Given the description of an element on the screen output the (x, y) to click on. 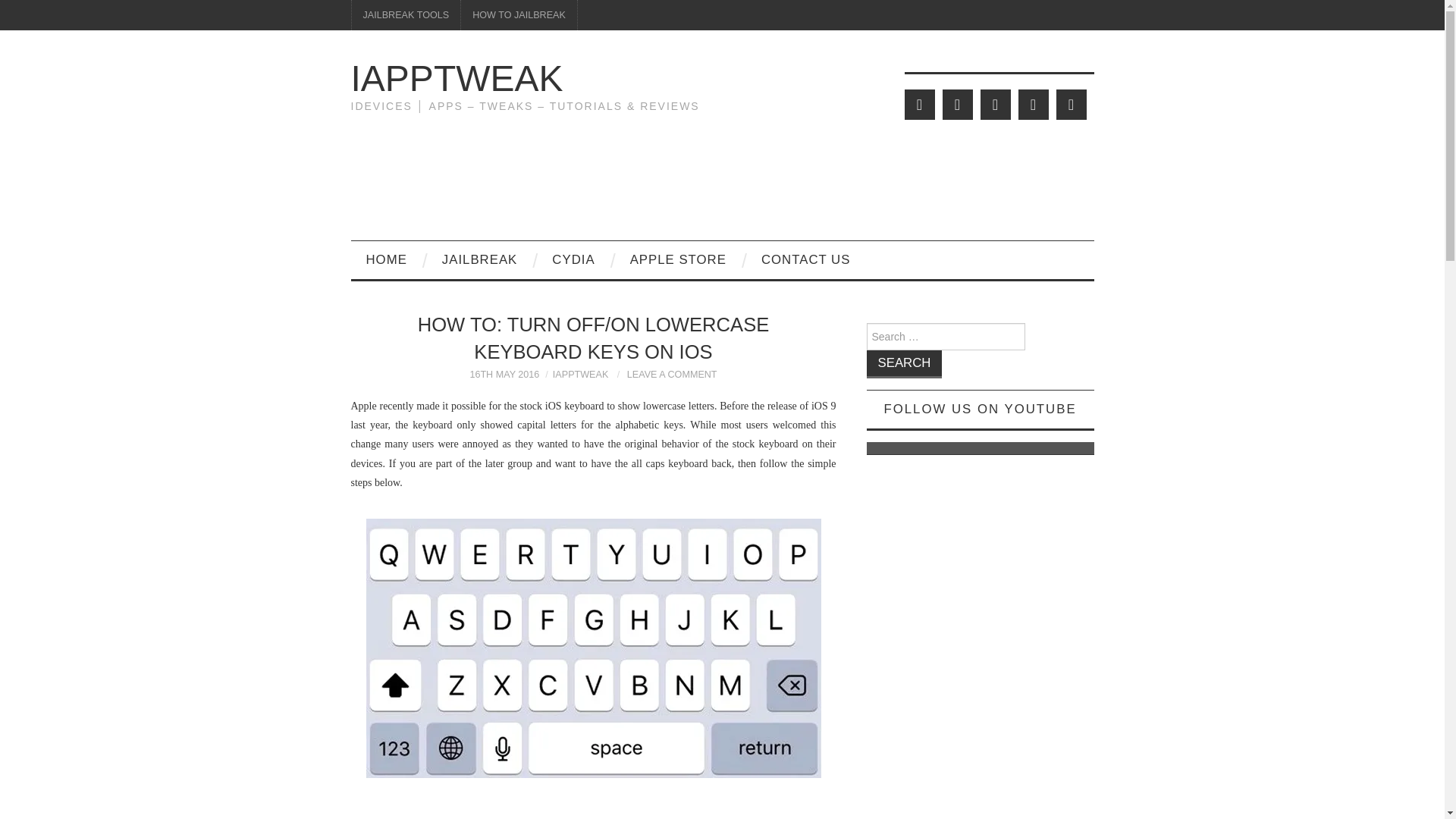
Contact iappTweak (805, 259)
CONTACT US (805, 259)
YouTube (1032, 104)
Search (904, 364)
IAPPTWEAK (456, 78)
Instagram (1070, 104)
iappTweak (456, 78)
APPLE STORE (677, 259)
CYDIA (573, 259)
JAILBREAK (479, 259)
